Given the description of an element on the screen output the (x, y) to click on. 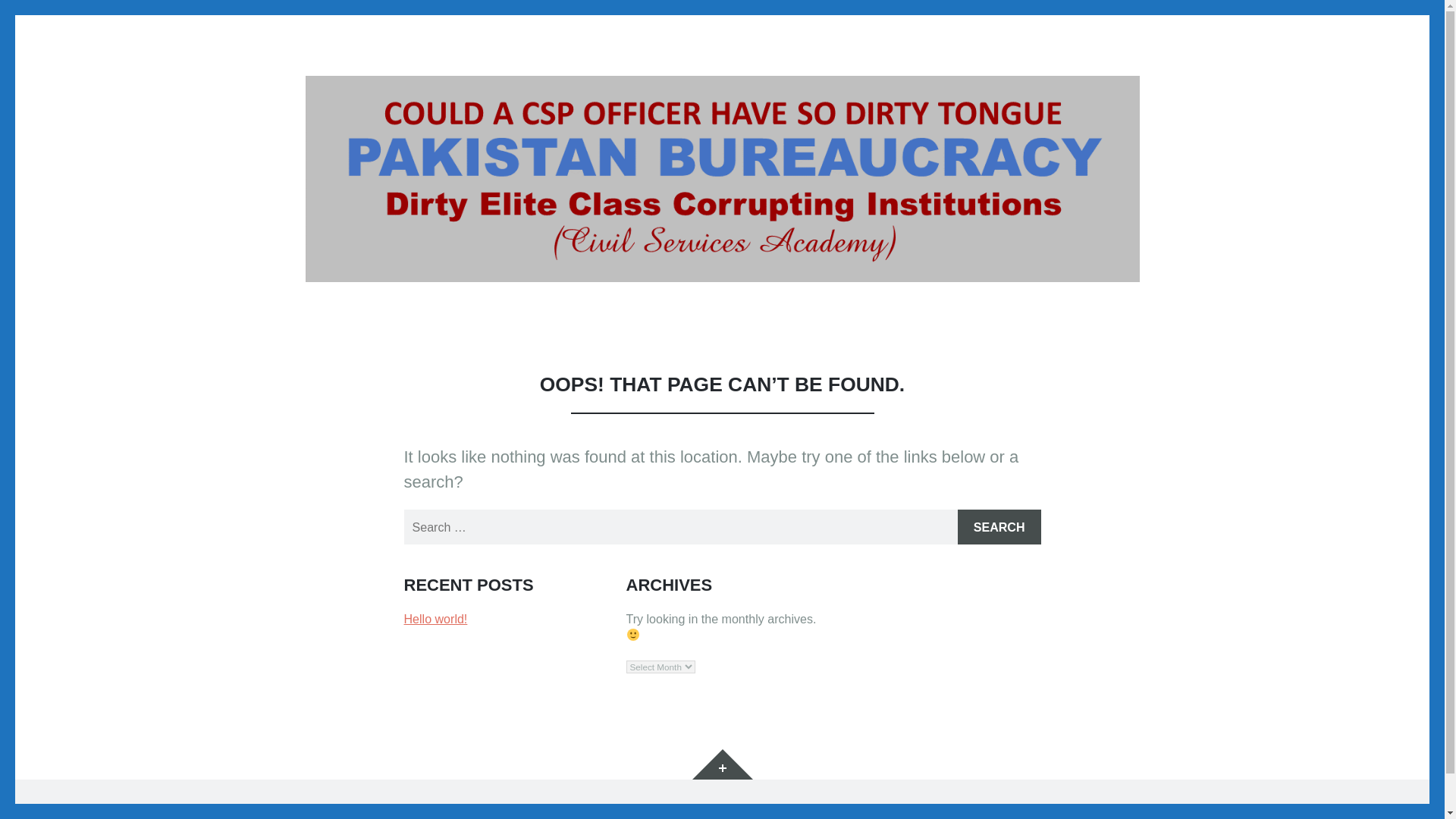
Search (999, 526)
Hello world! (435, 618)
Search (999, 526)
Widgets (721, 764)
Proudly powered by WordPress (390, 809)
WordPress.com (635, 809)
Search (999, 526)
